Given the description of an element on the screen output the (x, y) to click on. 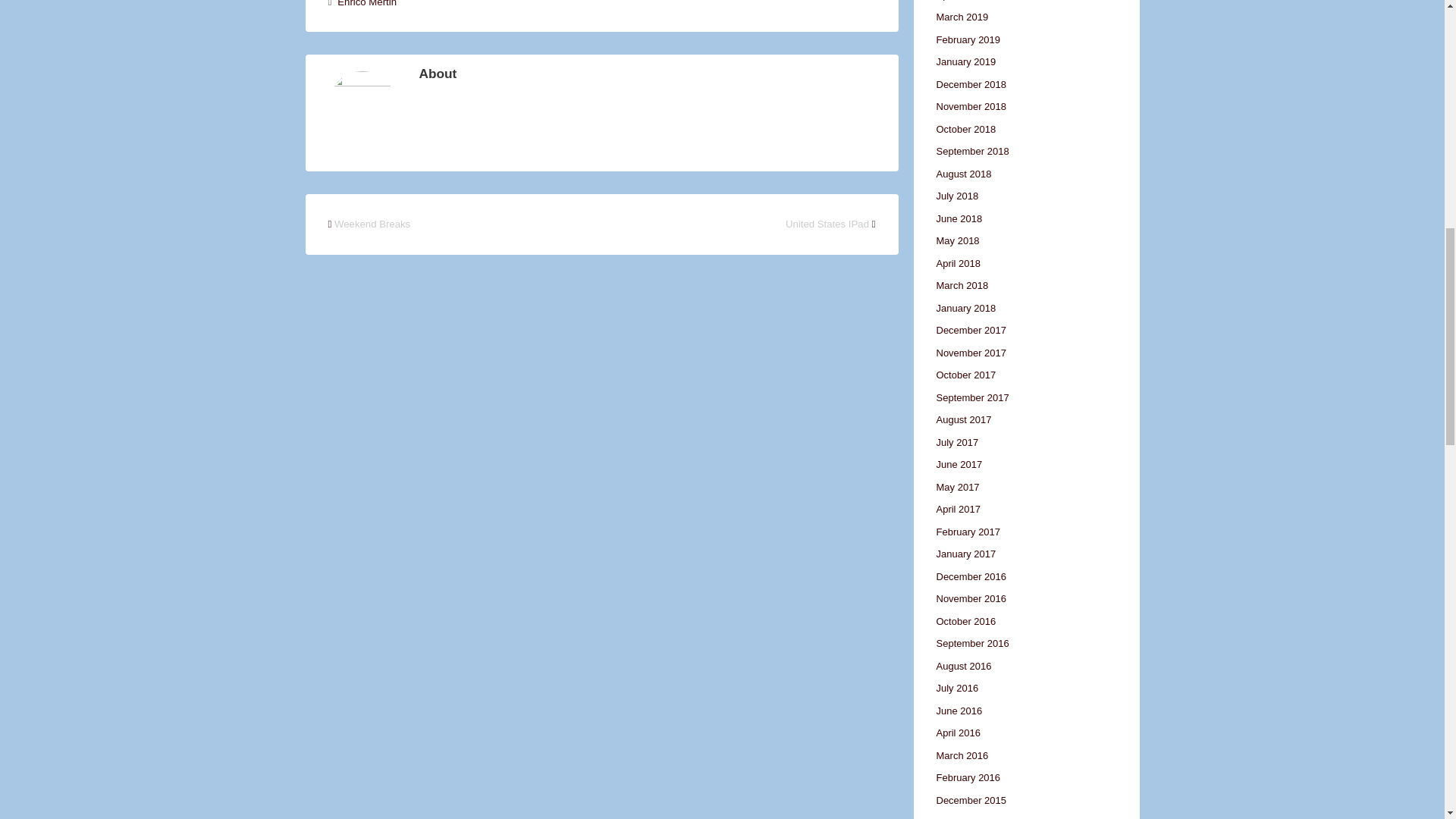
Weekend Breaks (372, 224)
United States IPad (827, 224)
Enrico Mertin (366, 3)
Enrico Mertin (366, 3)
